Given the description of an element on the screen output the (x, y) to click on. 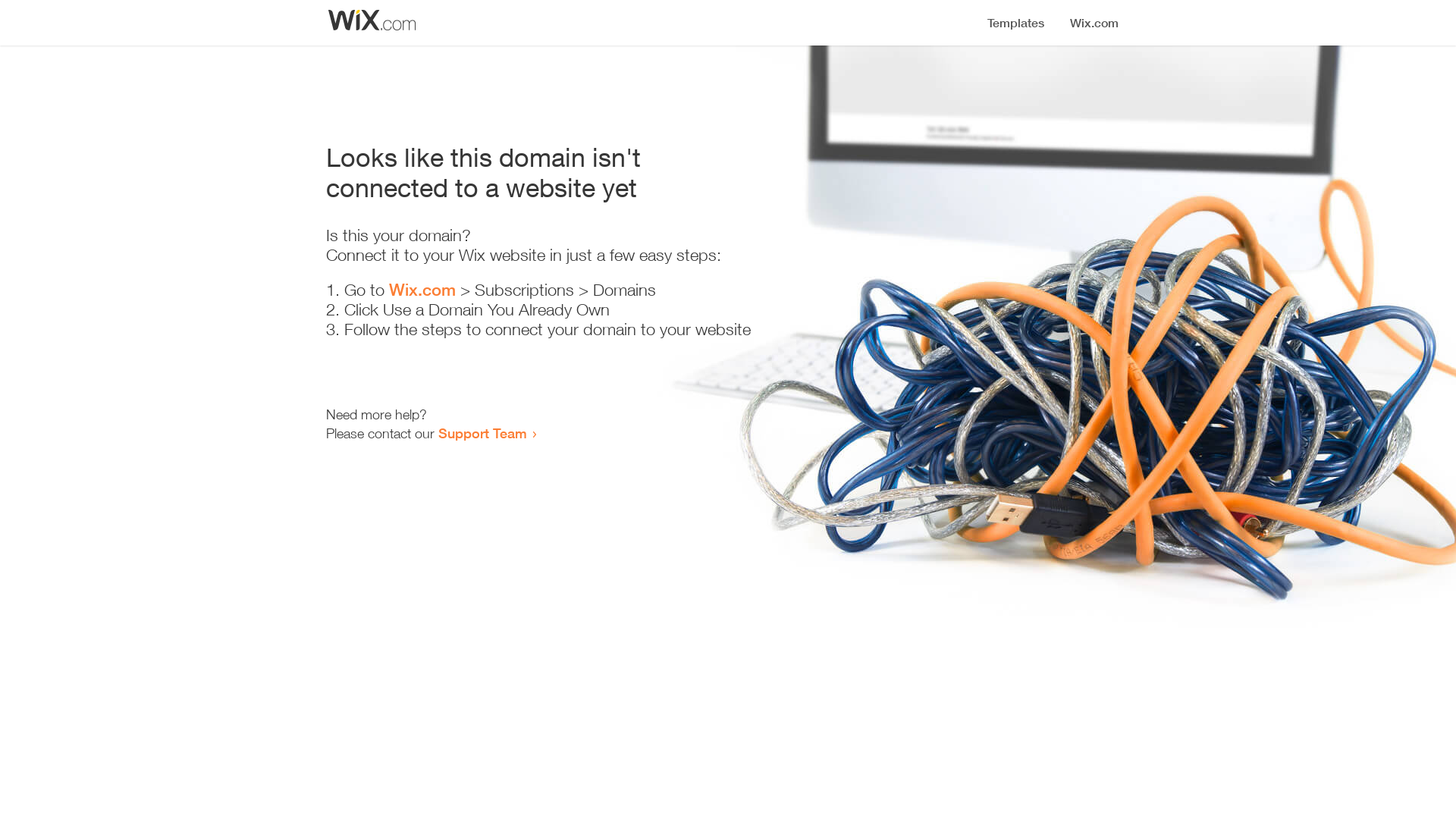
Support Team Element type: text (482, 432)
Wix.com Element type: text (422, 289)
